Given the description of an element on the screen output the (x, y) to click on. 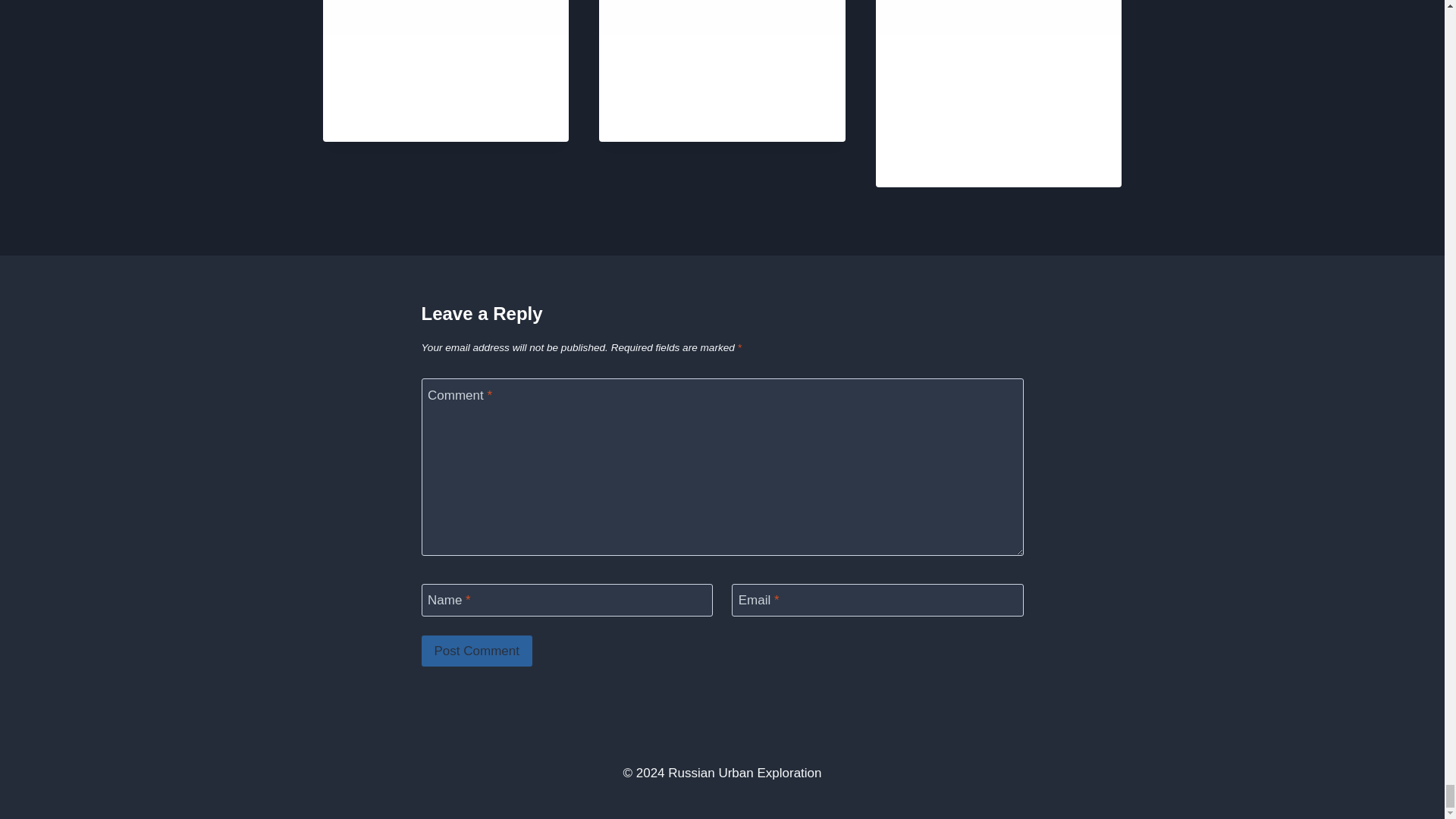
Post Comment (477, 650)
